Given the description of an element on the screen output the (x, y) to click on. 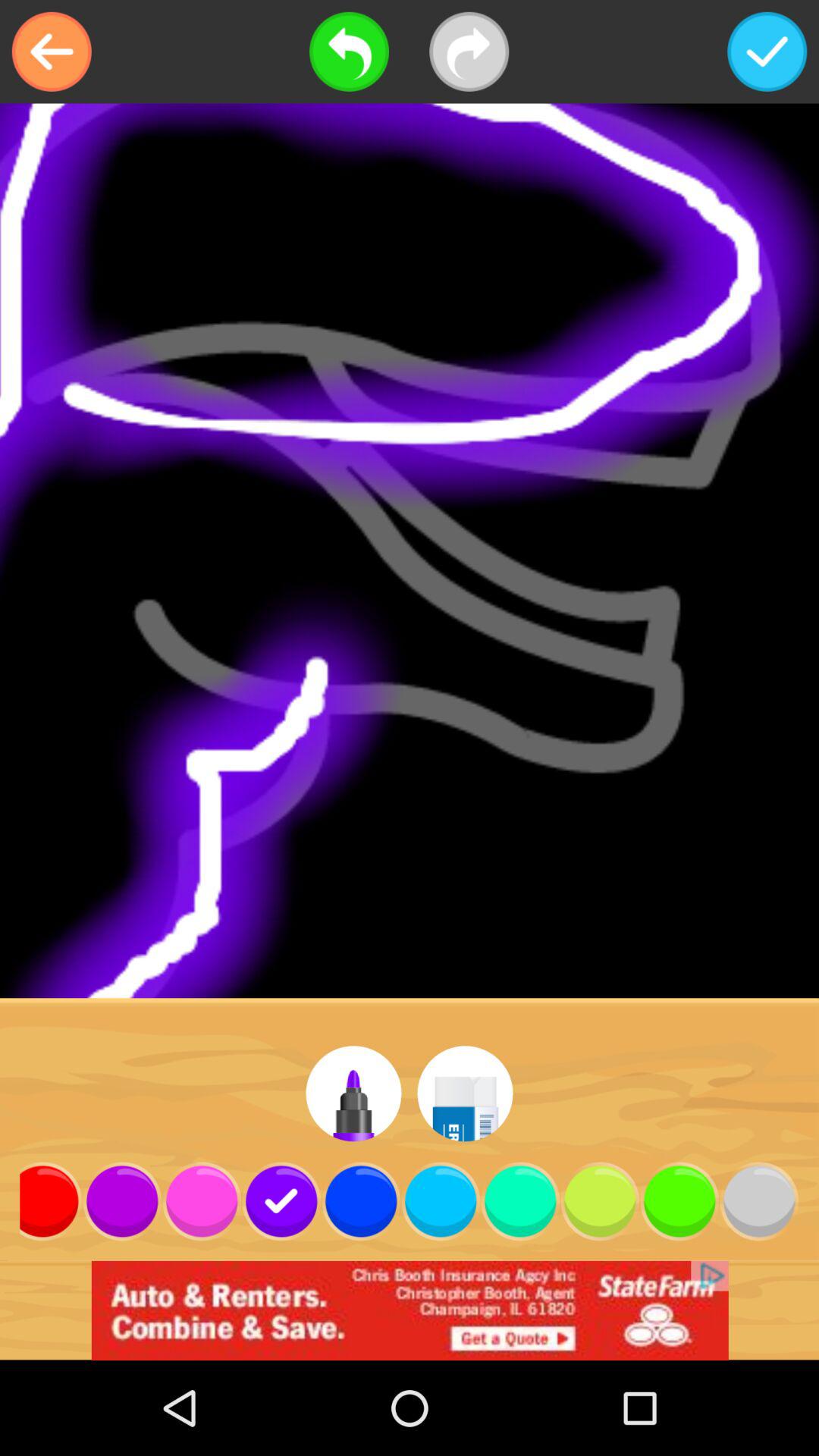
turn off the item at the top left corner (51, 51)
